Given the description of an element on the screen output the (x, y) to click on. 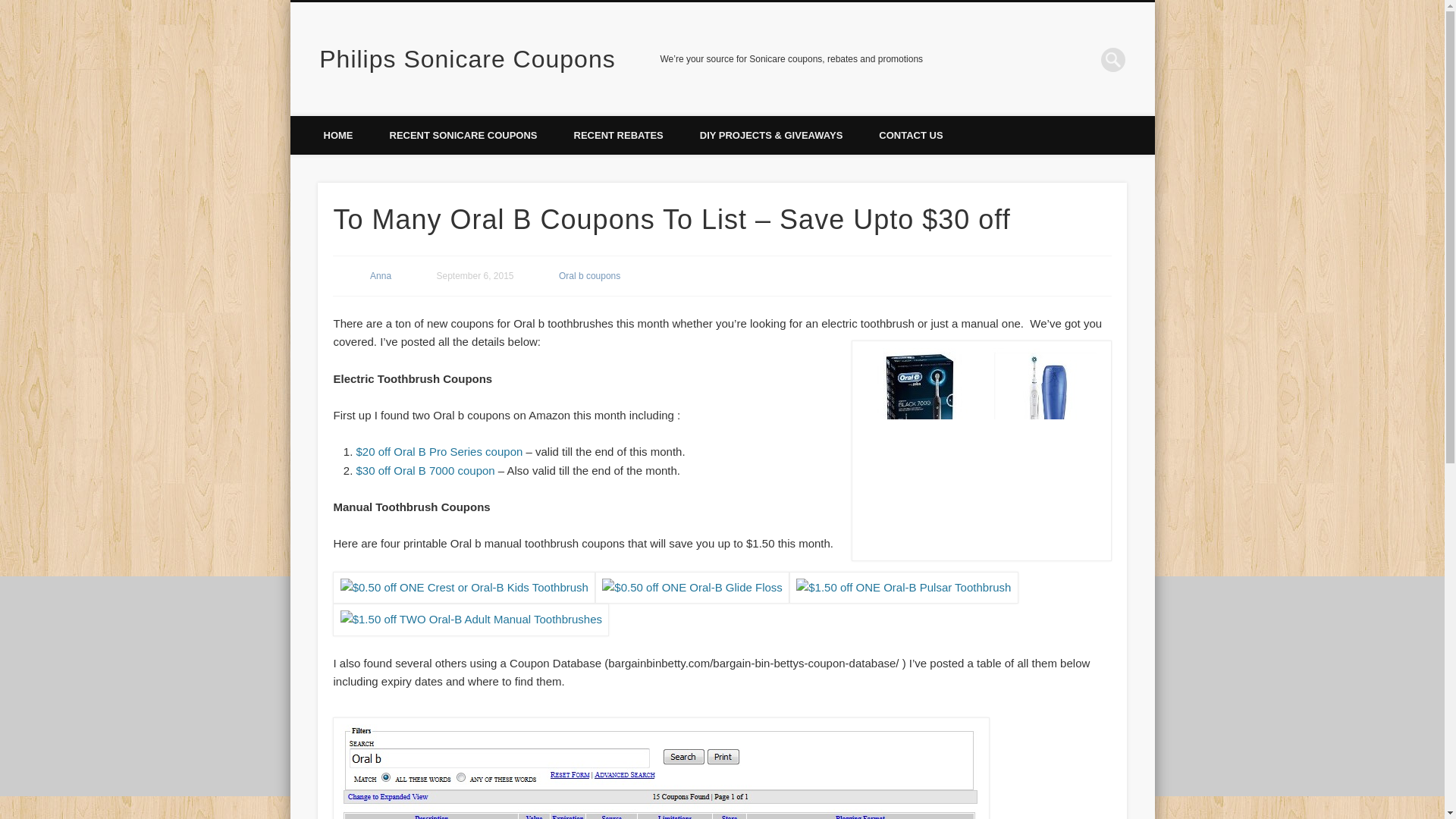
Posts by Anna (380, 276)
Philips Sonicare Coupons (466, 58)
Oral b coupons (589, 276)
RECENT SONICARE COUPONS (463, 135)
Search (11, 7)
Anna (380, 276)
RECENT REBATES (618, 135)
CONTACT US (910, 135)
HOME (337, 135)
